Given the description of an element on the screen output the (x, y) to click on. 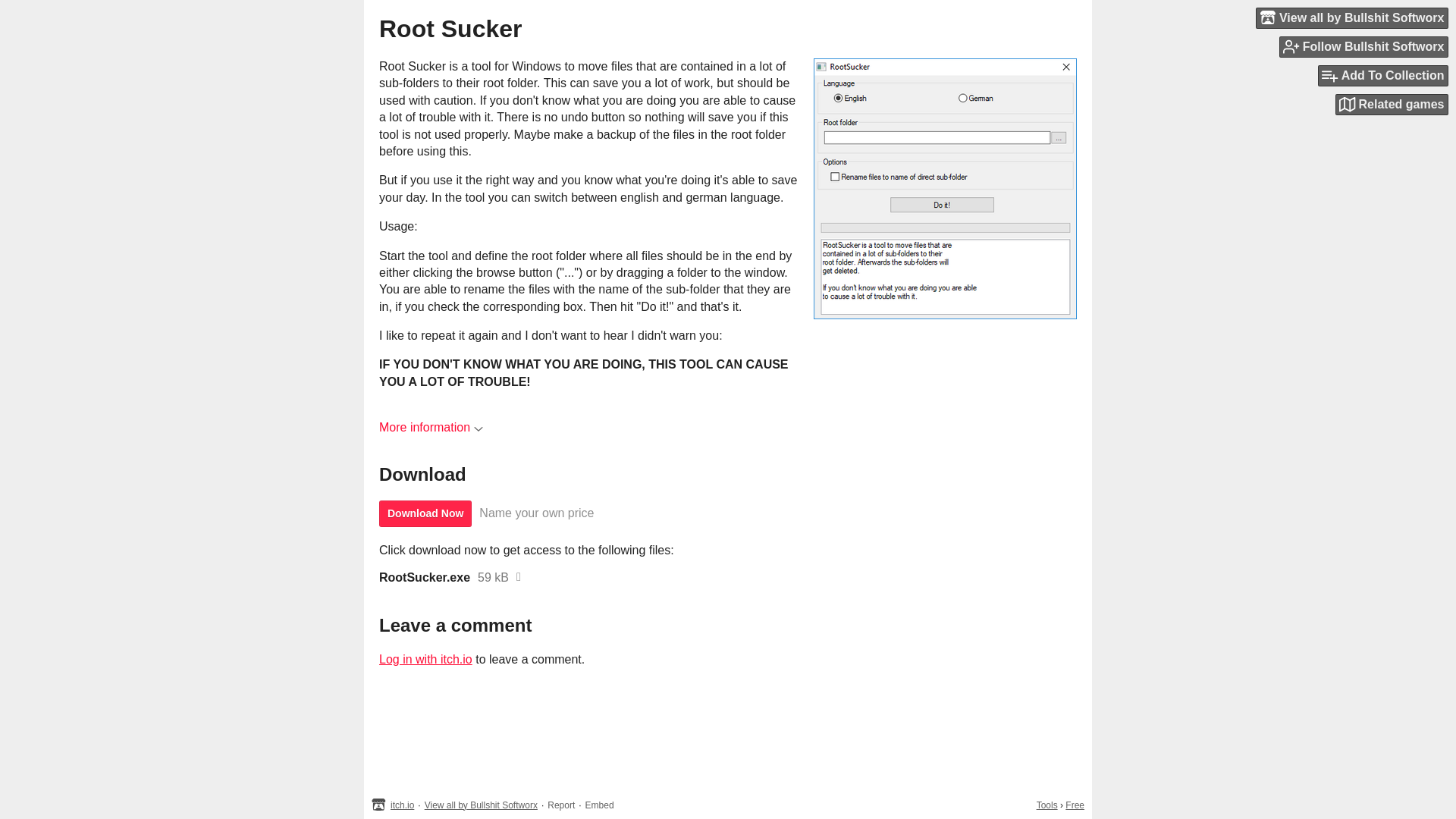
View all by Bullshit Softworx (1351, 17)
Download Now (424, 513)
Free (1074, 804)
More information (430, 427)
RootSucker.exe (424, 577)
Related games (1391, 104)
Tools (1047, 804)
Follow Bullshit Softworx (1363, 46)
itch.io (401, 804)
Embed (599, 804)
Report (561, 804)
Log in with itch.io (424, 658)
Add To Collection (1382, 75)
View all by Bullshit Softworx (481, 804)
